Given the description of an element on the screen output the (x, y) to click on. 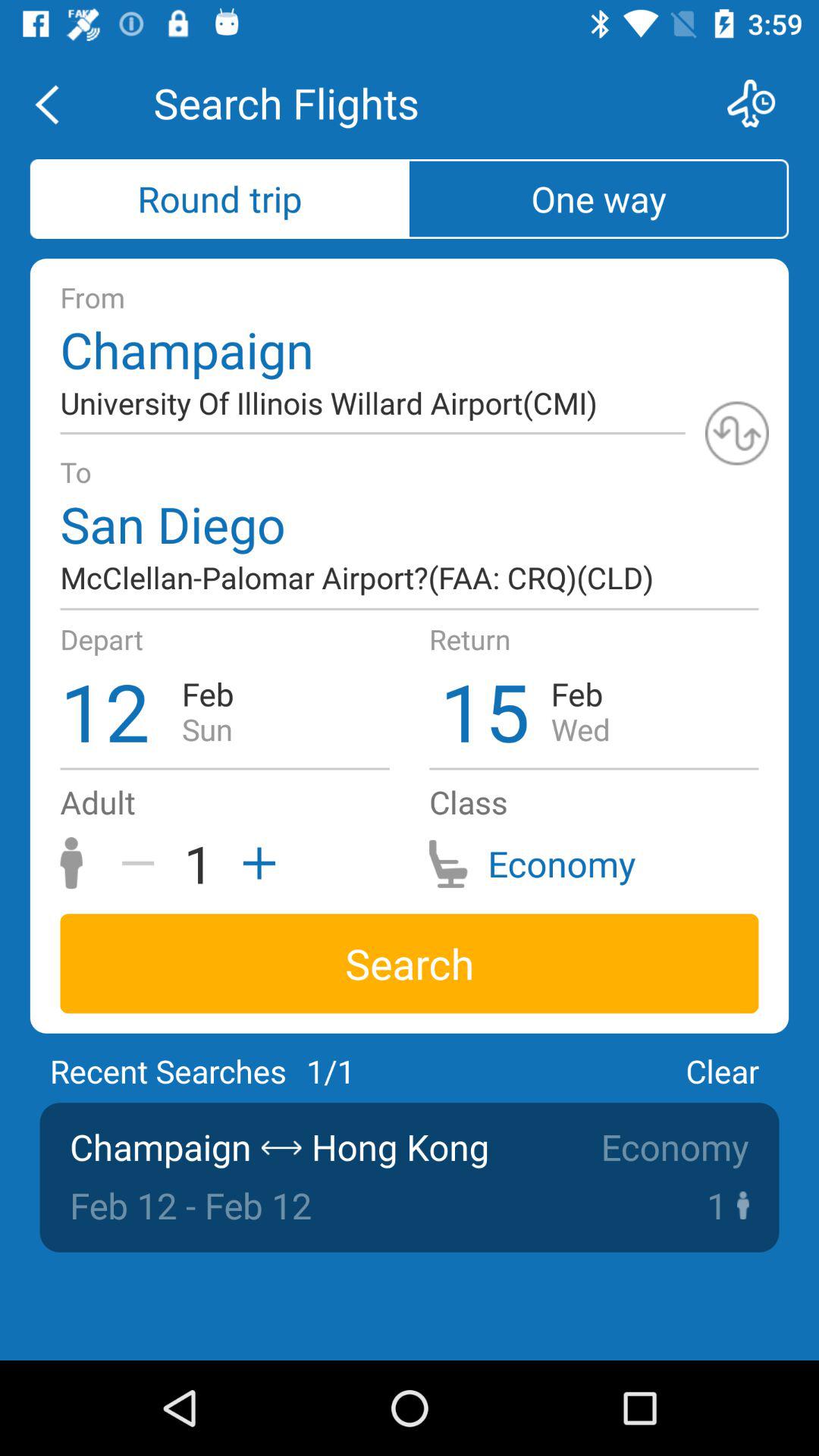
go to schedule (761, 102)
